Given the description of an element on the screen output the (x, y) to click on. 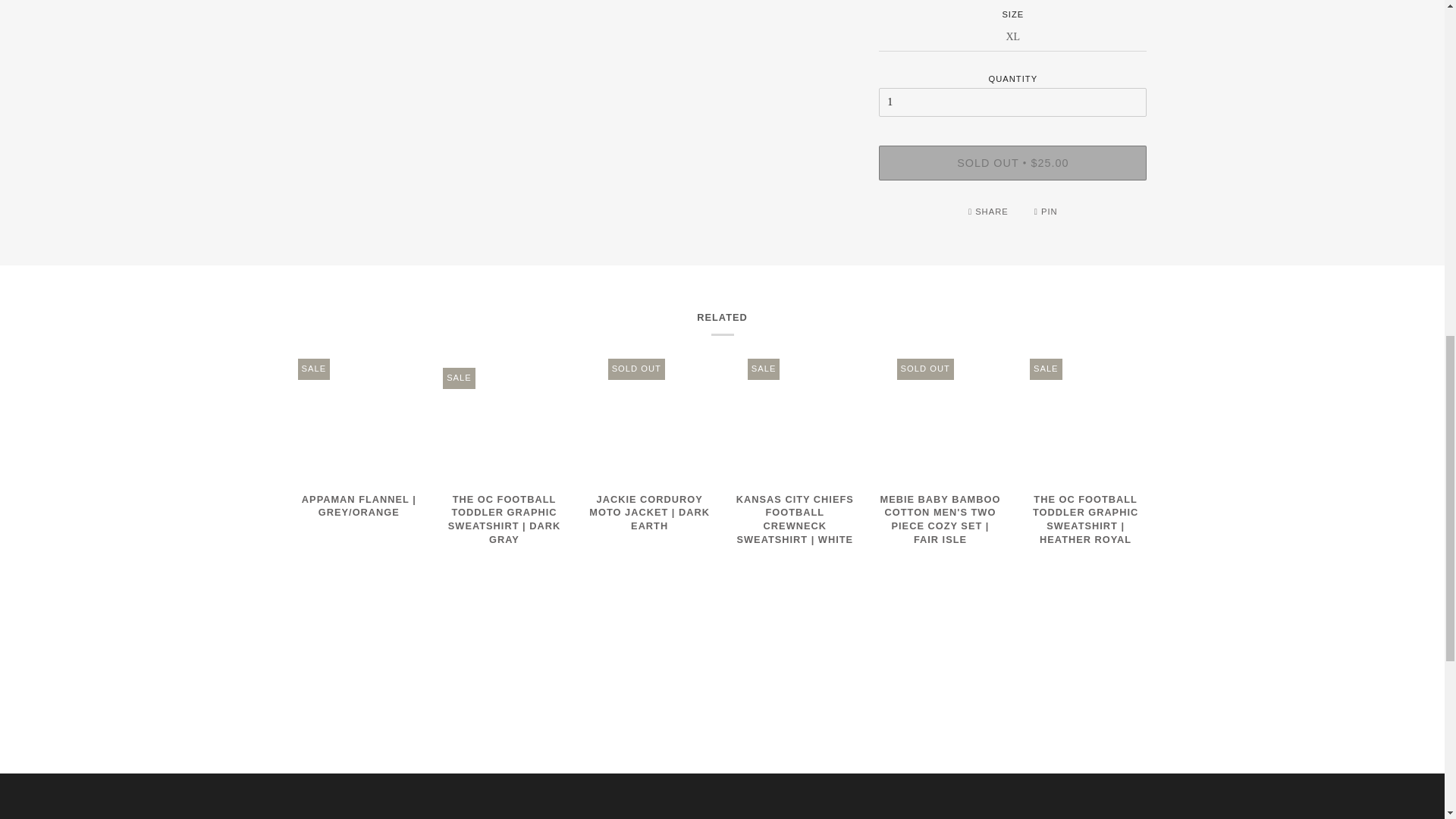
1 (1013, 102)
